Given the description of an element on the screen output the (x, y) to click on. 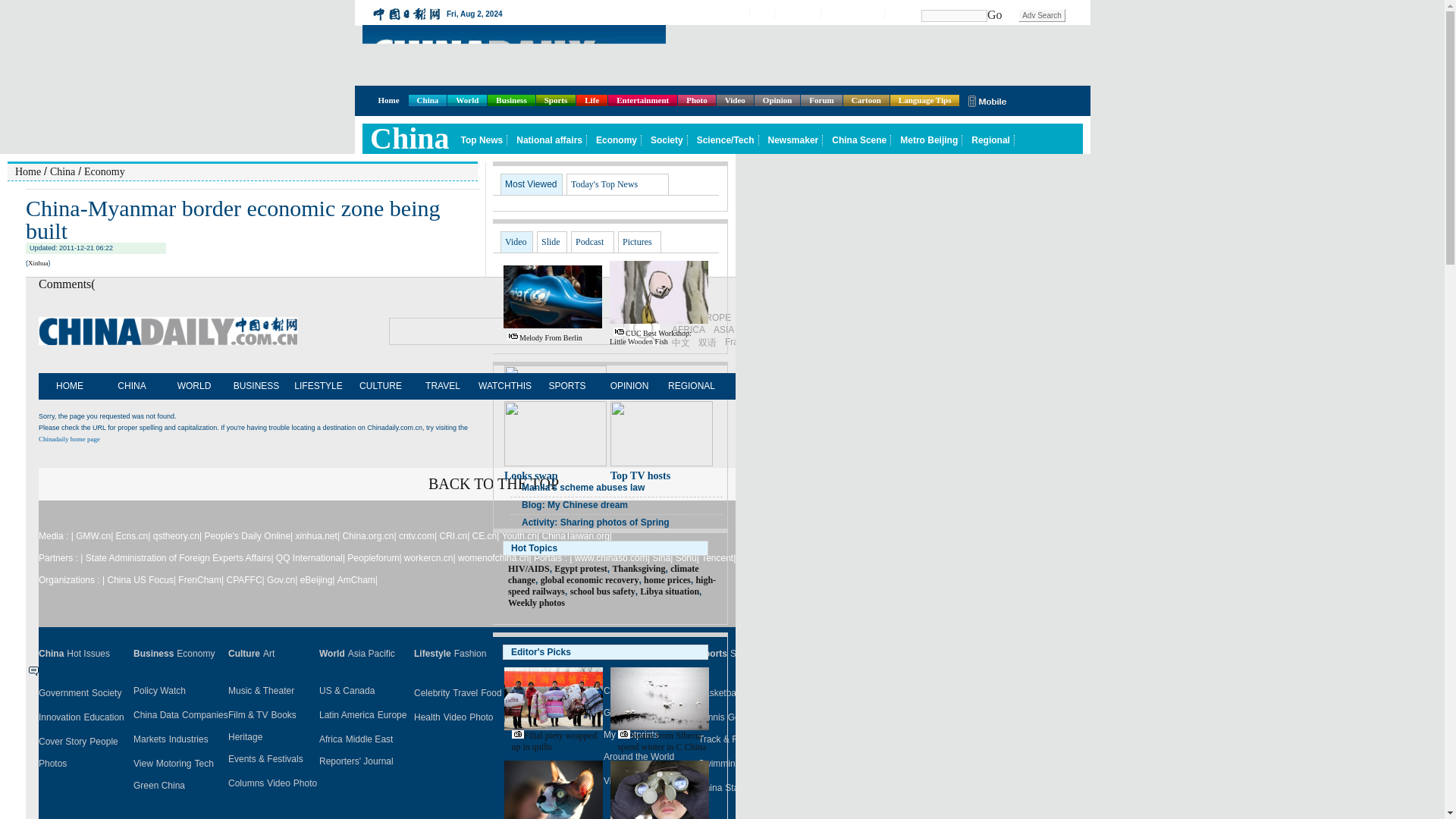
Business (510, 100)
China (427, 100)
World (466, 100)
Home (388, 100)
Life (591, 100)
Sports (555, 100)
